Given the description of an element on the screen output the (x, y) to click on. 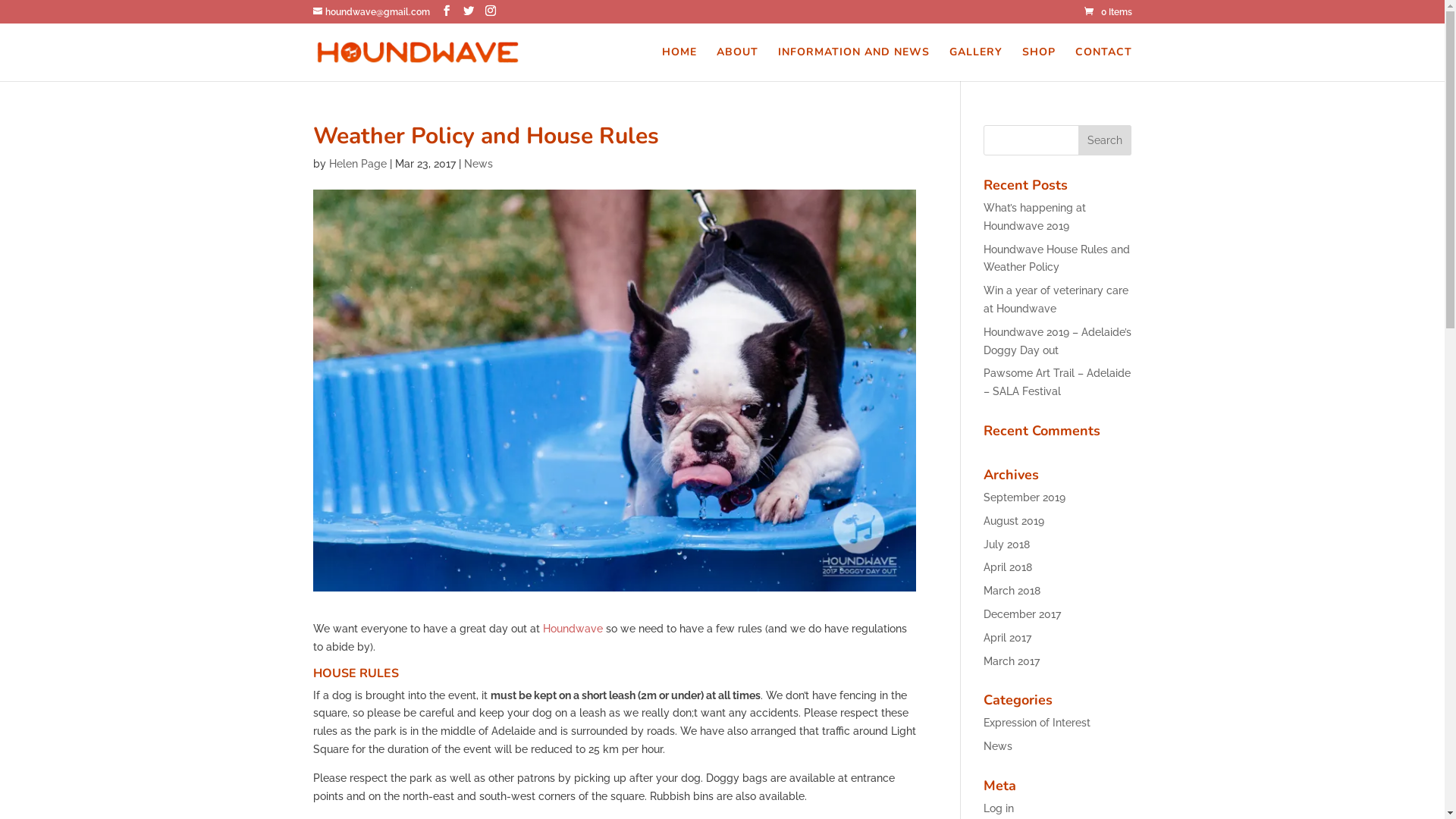
September 2019 Element type: text (1024, 497)
houndwave@gmail.com Element type: text (370, 11)
SHOP Element type: text (1038, 64)
August 2019 Element type: text (1013, 520)
News Element type: text (997, 746)
Log in Element type: text (998, 808)
April 2018 Element type: text (1007, 567)
December 2017 Element type: text (1021, 614)
March 2018 Element type: text (1011, 590)
ABOUT Element type: text (736, 64)
Houndwave House Rules and Weather Policy Element type: text (1056, 258)
INFORMATION AND NEWS Element type: text (853, 64)
CONTACT Element type: text (1103, 64)
Expression of Interest Element type: text (1036, 722)
July 2018 Element type: text (1006, 544)
Houndwave Element type: text (573, 628)
0 Items Element type: text (1108, 11)
Win a year of veterinary care at Houndwave Element type: text (1055, 299)
Search Element type: text (1104, 140)
Helen Page Element type: text (357, 163)
April 2017 Element type: text (1007, 637)
March 2017 Element type: text (1011, 661)
GALLERY Element type: text (975, 64)
HOME Element type: text (678, 64)
News Element type: text (478, 163)
